Given the description of an element on the screen output the (x, y) to click on. 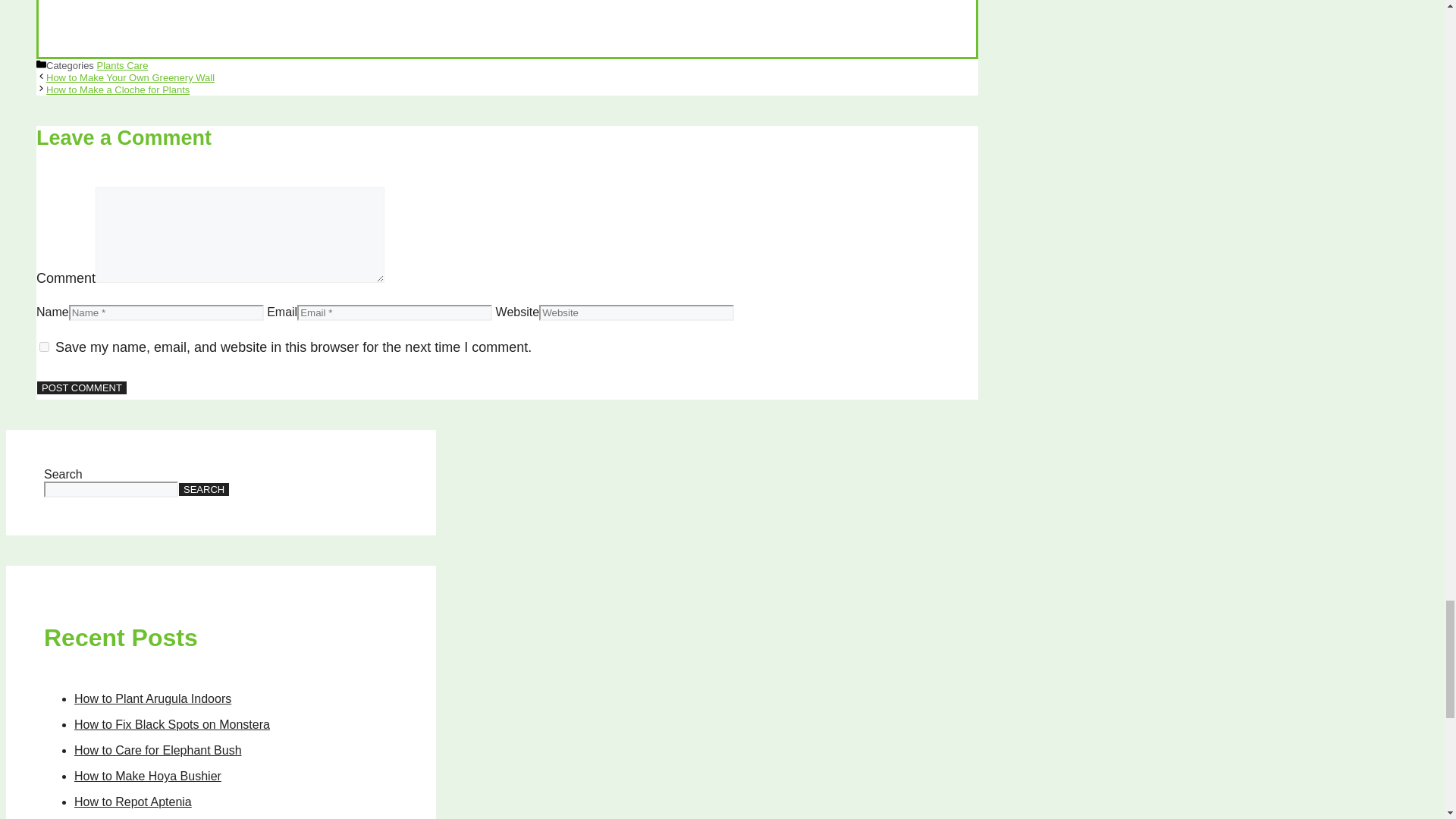
How to Make Hoya Bushier (147, 775)
Post Comment (82, 387)
How to Repot Aptenia (133, 801)
How to Plant Arugula Indoors (152, 698)
Plants Care (122, 65)
How to Care for Elephant Bush (157, 749)
How to Fix Black Spots on Monstera (171, 724)
How to Make a Cloche for Plants (117, 89)
How to Make Your Own Greenery Wall (130, 77)
yes (44, 347)
Post Comment (82, 387)
SEARCH (203, 489)
